Given the description of an element on the screen output the (x, y) to click on. 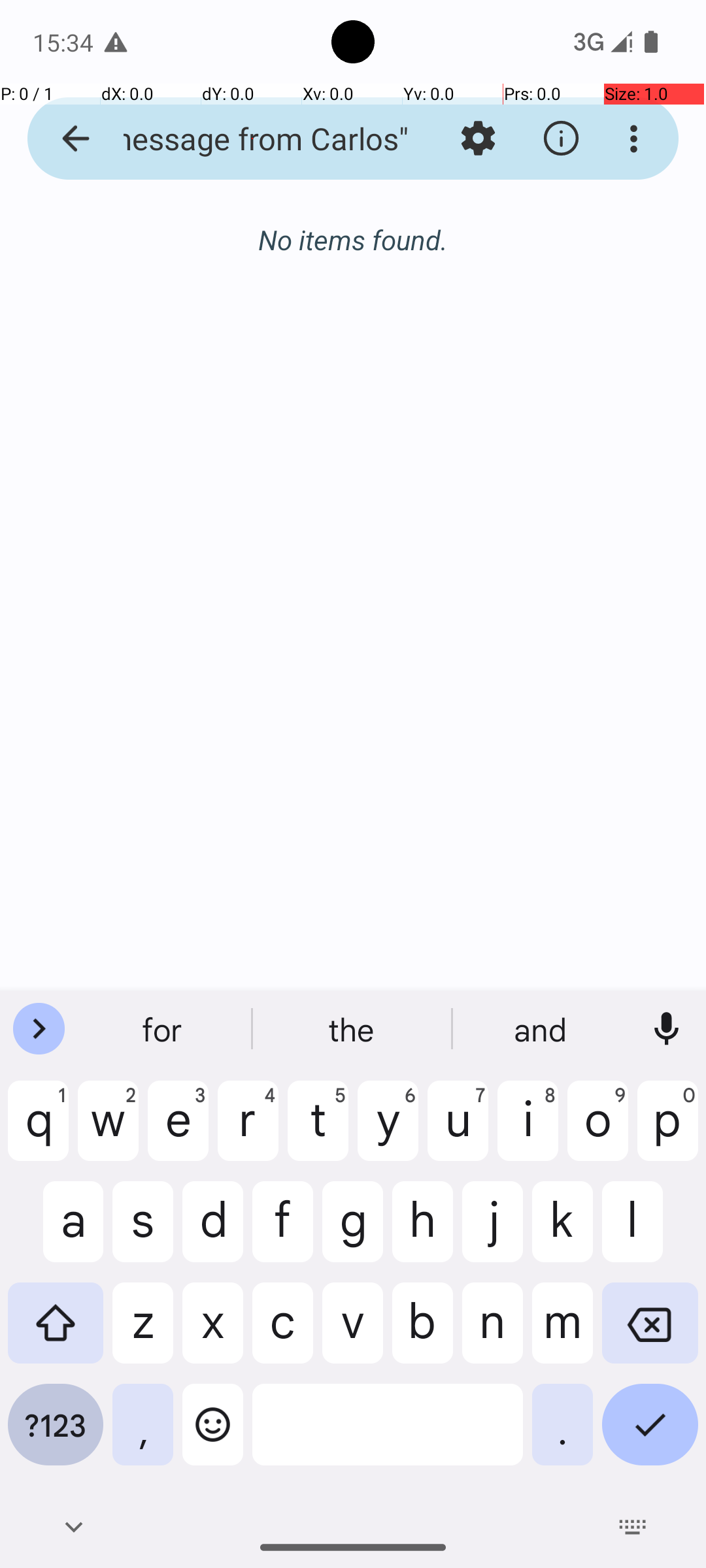
"message from Carlos" Element type: android.widget.EditText (252, 138)
Carlos dos Santos Element type: android.widget.TextView (408, 242)
Sorry, there was a glitch, what was the last message you sent me? Element type: android.widget.TextView (408, 281)
for Element type: android.widget.FrameLayout (163, 1028)
Carlo's Element type: android.widget.FrameLayout (352, 1028)
Carlo SS Element type: android.widget.FrameLayout (541, 1028)
